Given the description of an element on the screen output the (x, y) to click on. 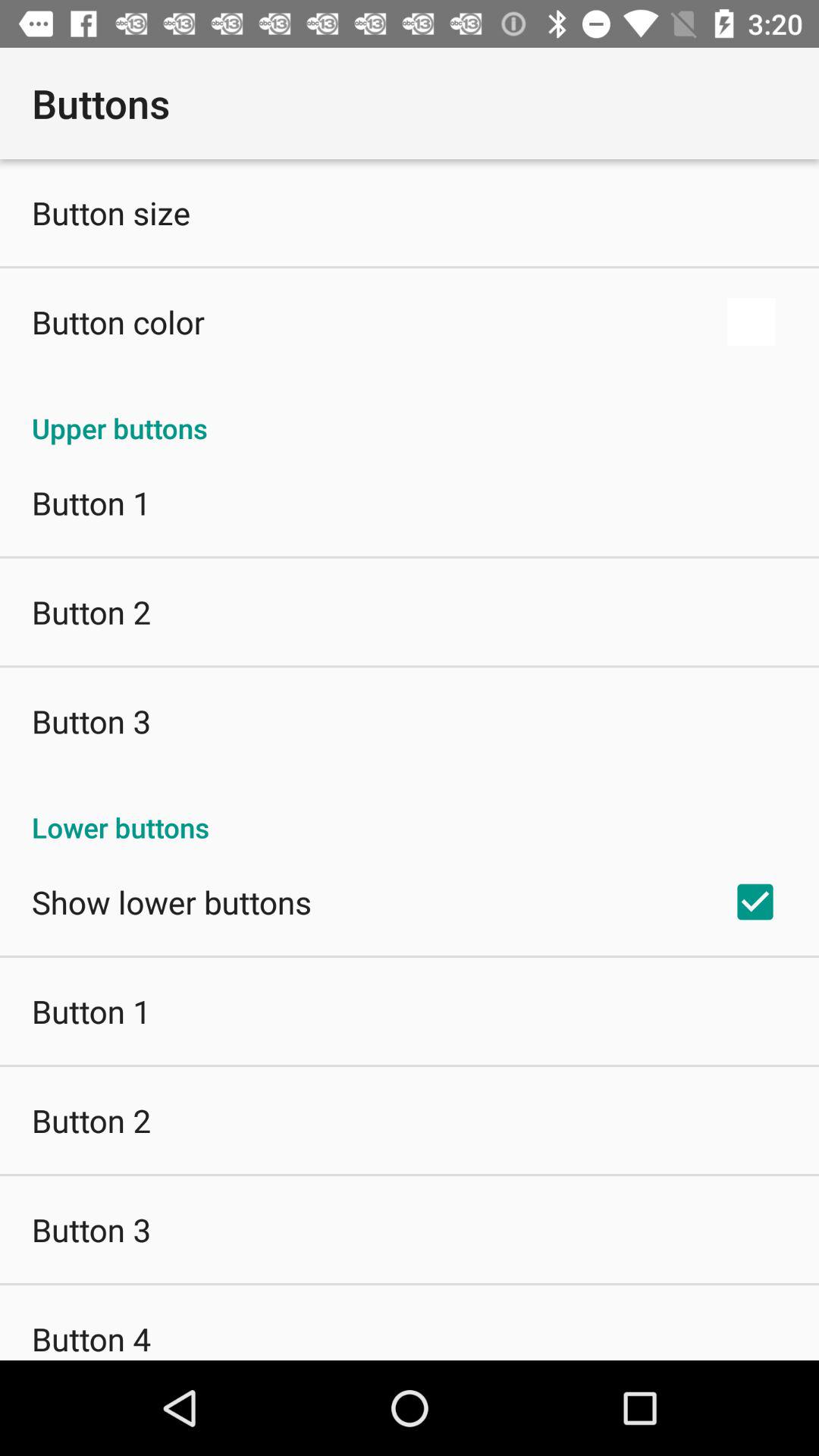
select the icon above upper buttons item (751, 321)
